Given the description of an element on the screen output the (x, y) to click on. 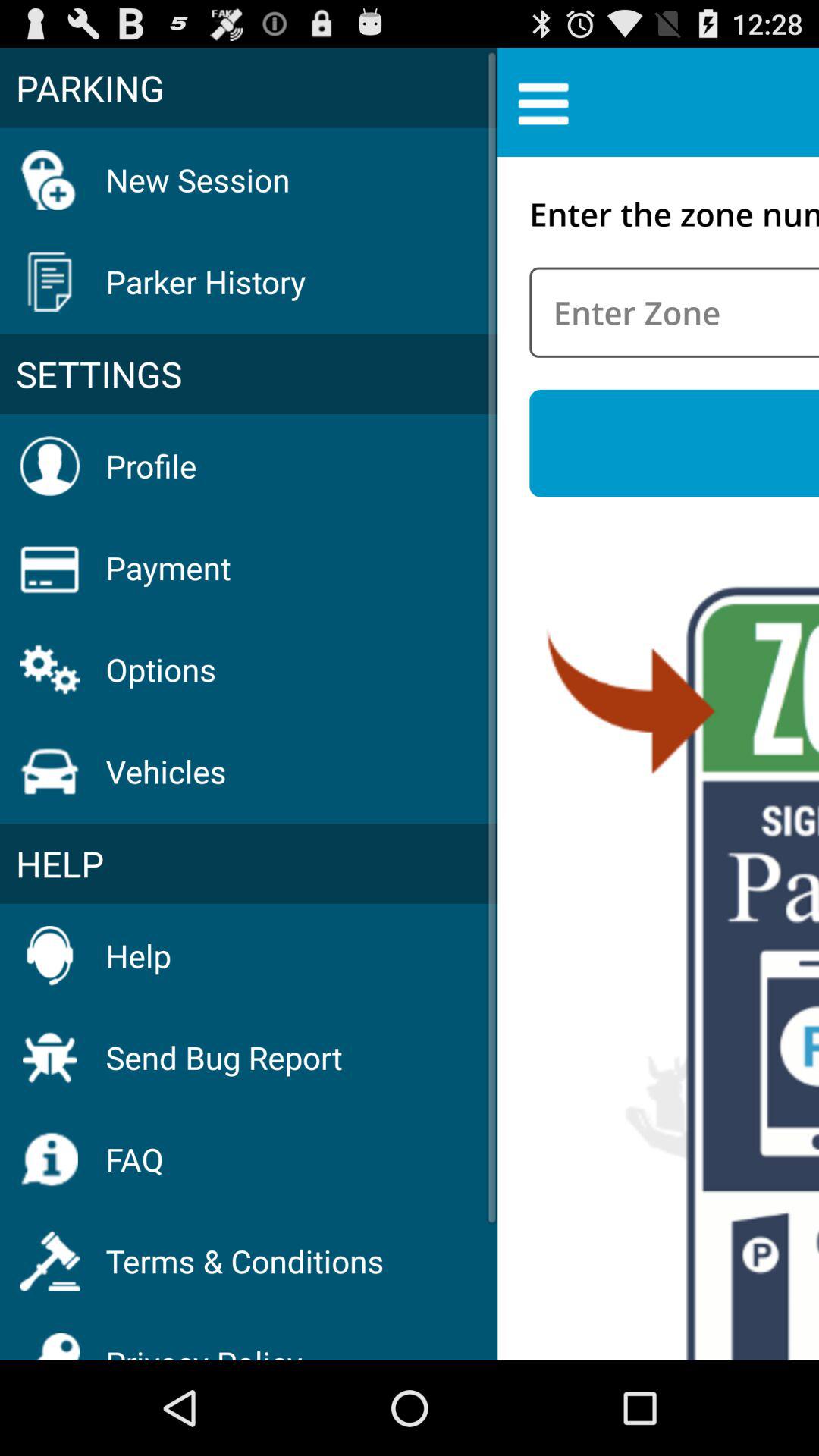
enter zone number (674, 312)
